Given the description of an element on the screen output the (x, y) to click on. 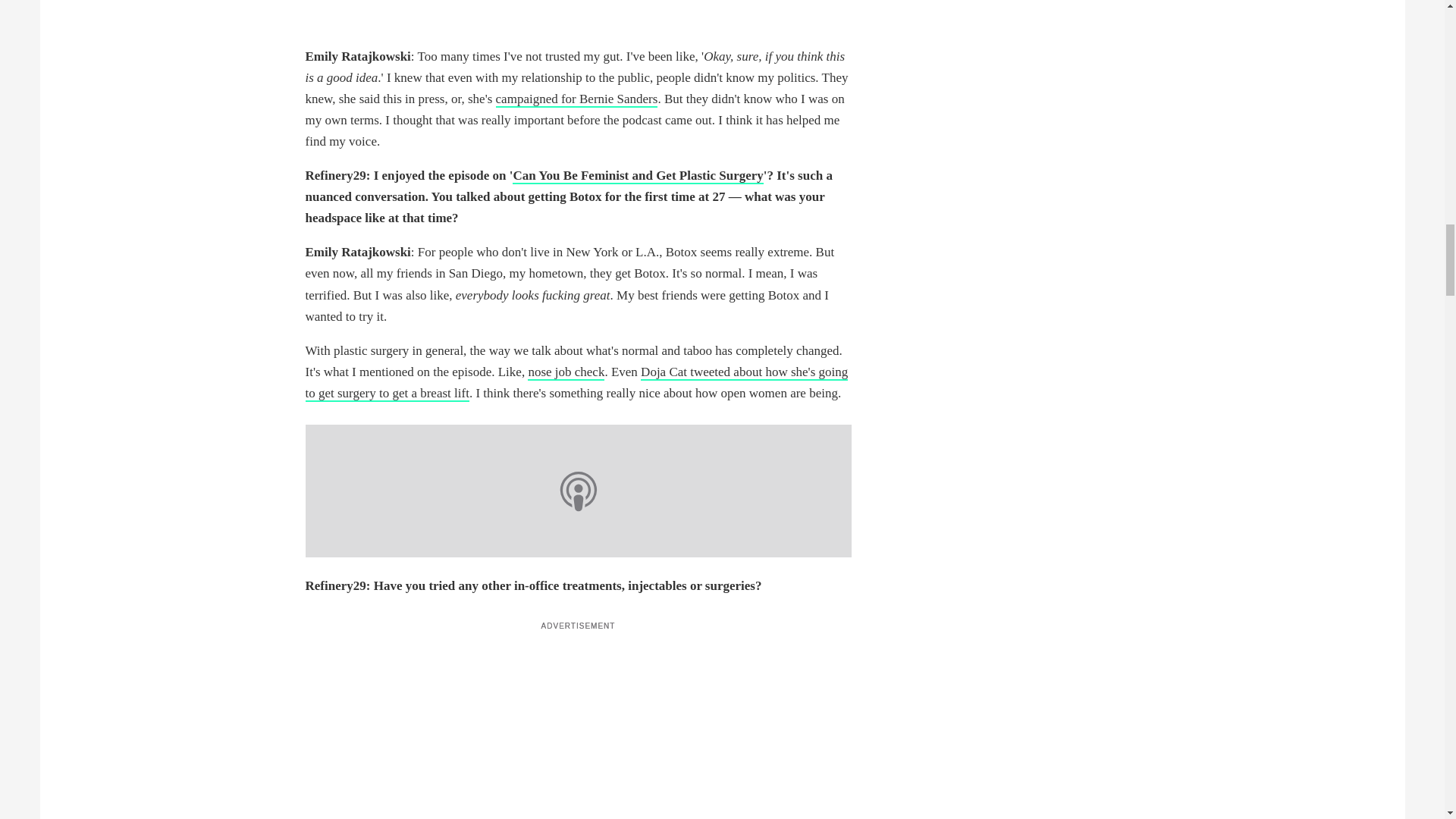
campaigned for Bernie Sanders (577, 99)
Can You Be Feminist and Get Plastic Surgery (637, 176)
nose job check (565, 372)
